Given the description of an element on the screen output the (x, y) to click on. 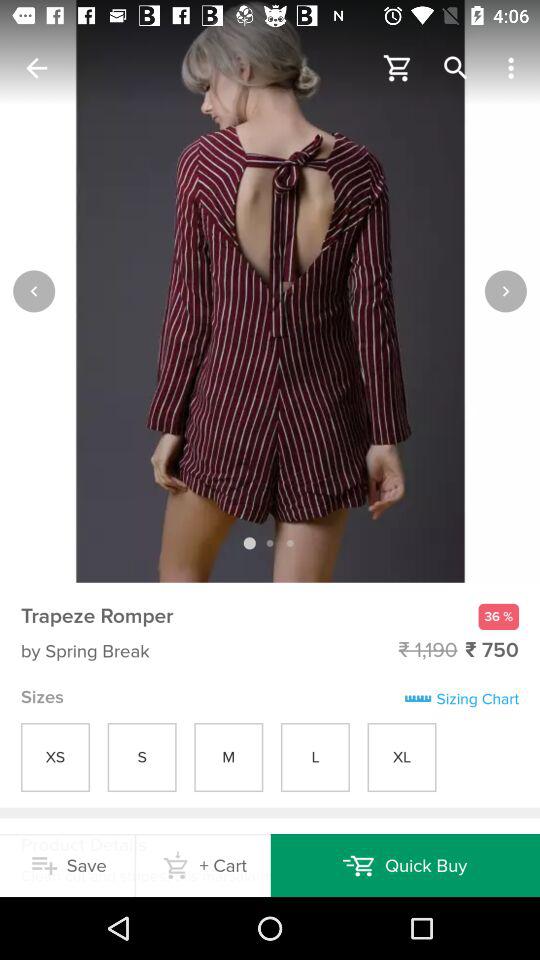
click on the search option (456, 68)
click on cart icon (398, 68)
click on quick buy (405, 865)
select the right of search icon (514, 68)
click on the icon which is left to option icon (456, 68)
